Given the description of an element on the screen output the (x, y) to click on. 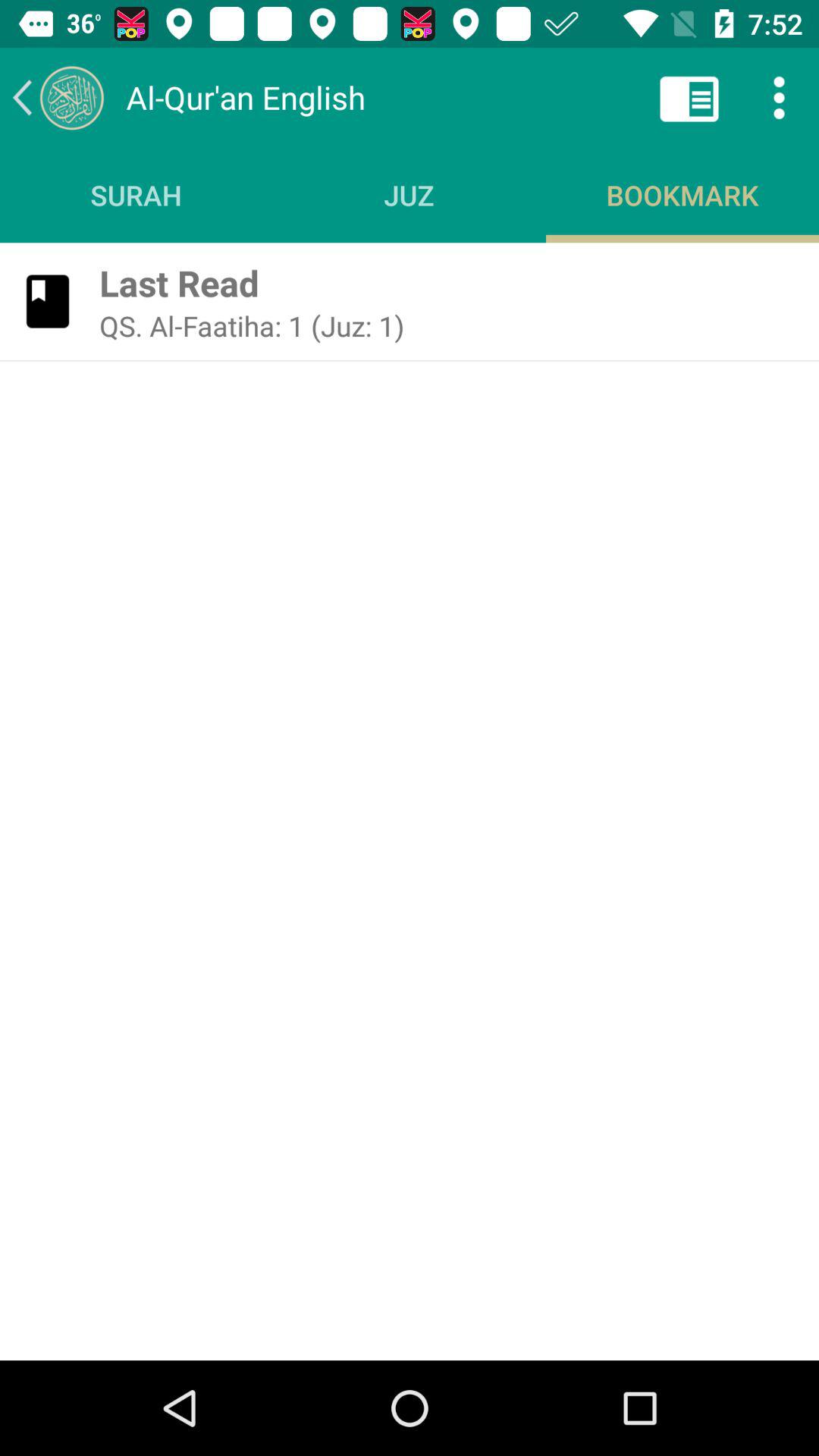
select the icon above the bookmark (689, 97)
